Given the description of an element on the screen output the (x, y) to click on. 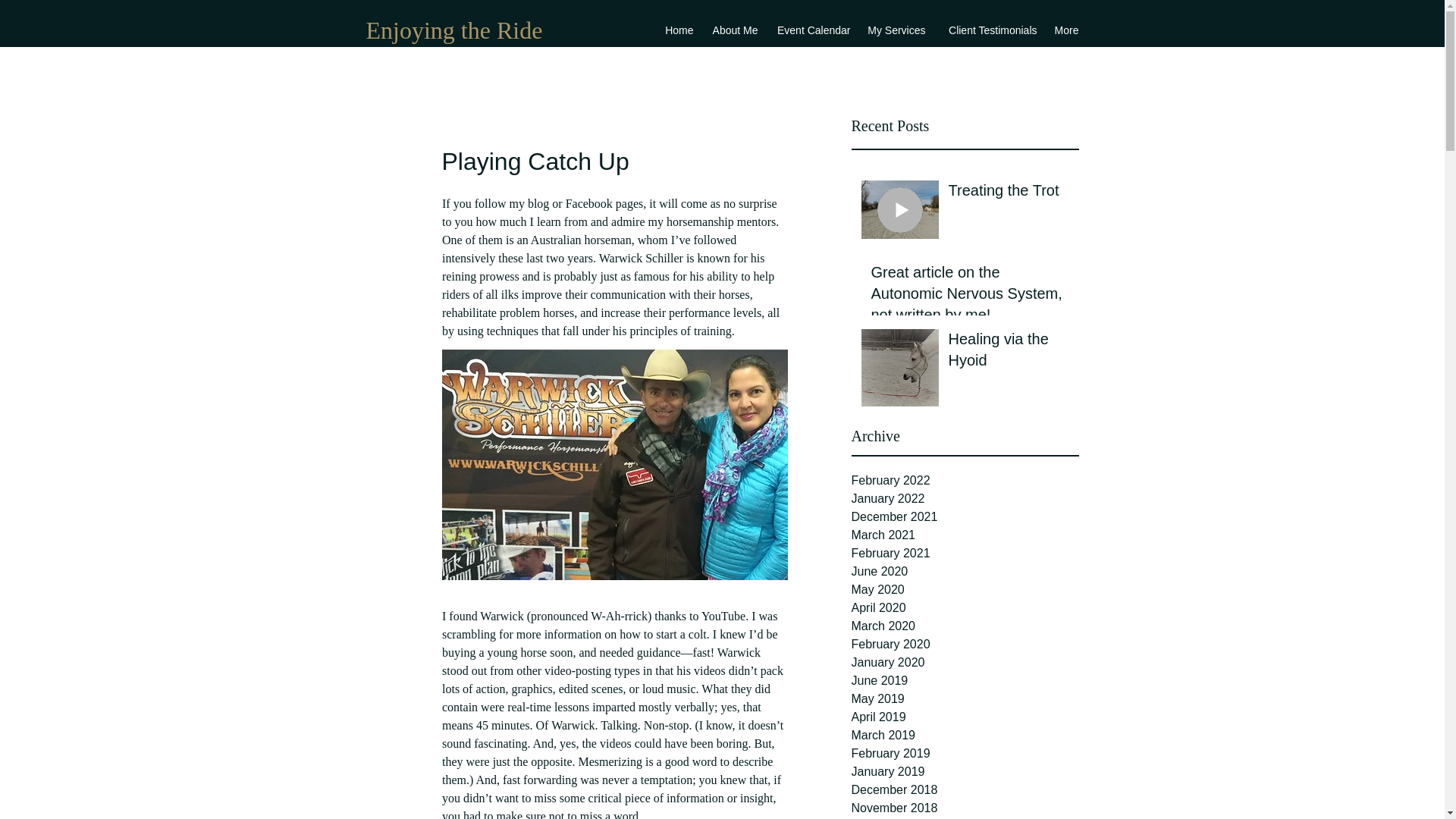
June 2019 (964, 680)
January 2019 (964, 771)
About Me (732, 29)
January 2022 (964, 498)
March 2019 (964, 735)
February 2021 (964, 553)
February 2019 (964, 753)
February 2020 (964, 644)
Home (678, 29)
Event Calendar (812, 29)
June 2020 (964, 571)
Healing via the Hyoid (1007, 352)
March 2020 (964, 626)
May 2020 (964, 589)
